Given the description of an element on the screen output the (x, y) to click on. 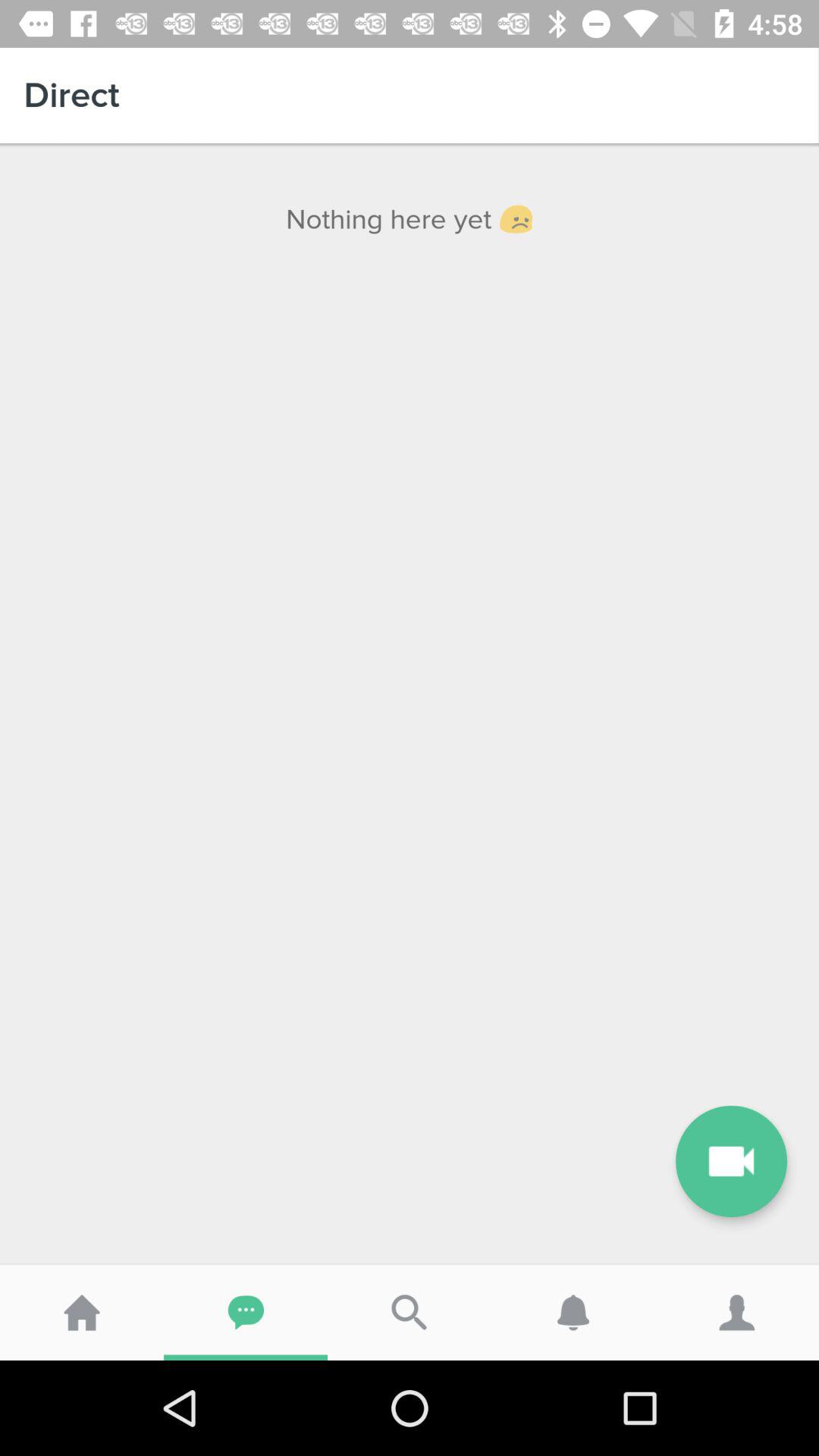
turn on direct (409, 95)
